Given the description of an element on the screen output the (x, y) to click on. 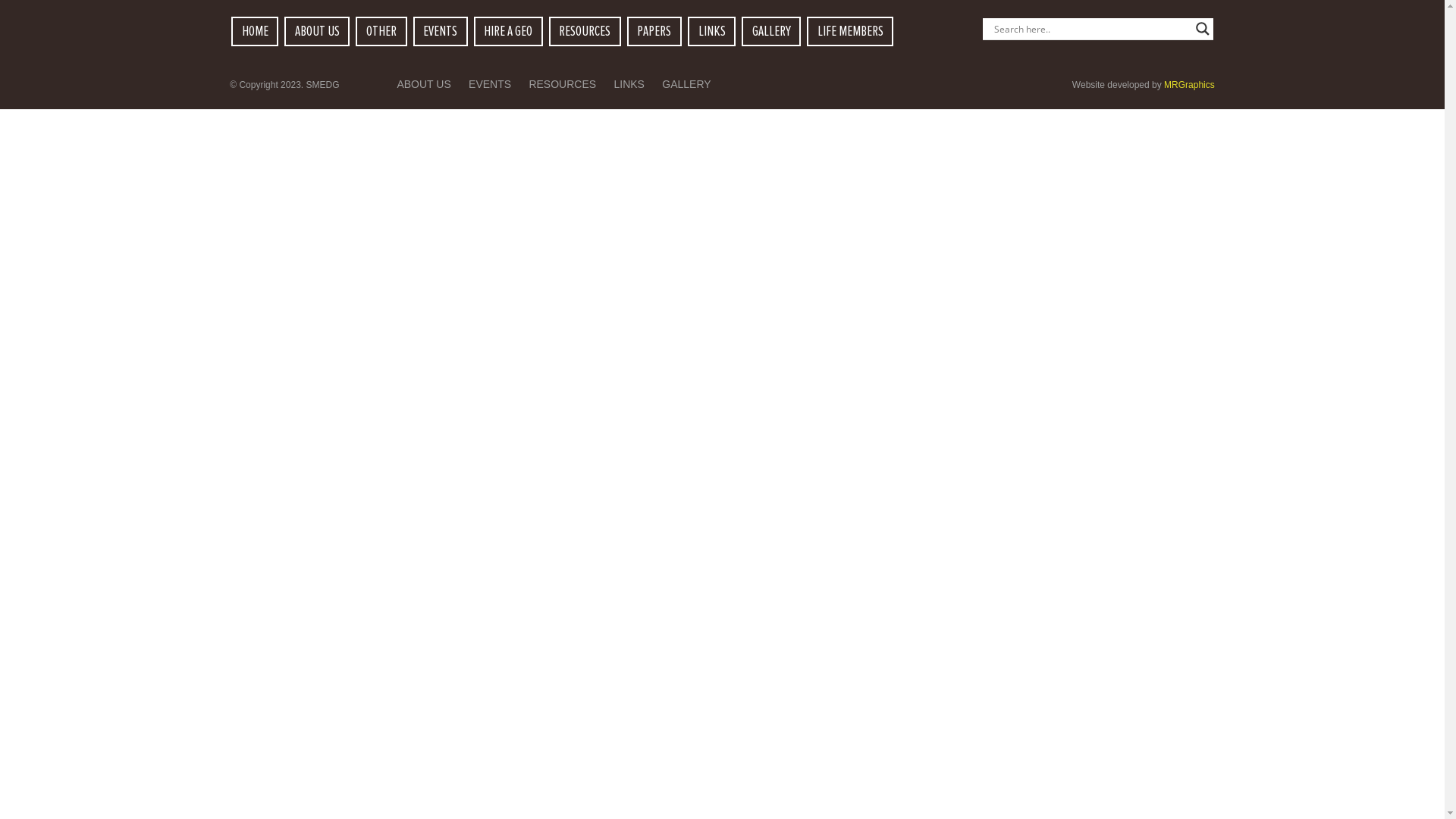
PAPERS Element type: text (654, 30)
EVENTS Element type: text (440, 30)
EVENTS Element type: text (489, 84)
ABOUT US Element type: text (316, 30)
RESOURCES Element type: text (562, 84)
MRGraphics Element type: text (1189, 84)
LINKS Element type: text (628, 84)
RESOURCES Element type: text (584, 30)
GALLERY Element type: text (771, 30)
ABOUT US Element type: text (423, 84)
HIRE A GEO Element type: text (507, 30)
LINKS Element type: text (711, 30)
HOME Element type: text (254, 30)
LIFE MEMBERS Element type: text (850, 30)
GALLERY Element type: text (686, 84)
OTHER Element type: text (381, 30)
